Given the description of an element on the screen output the (x, y) to click on. 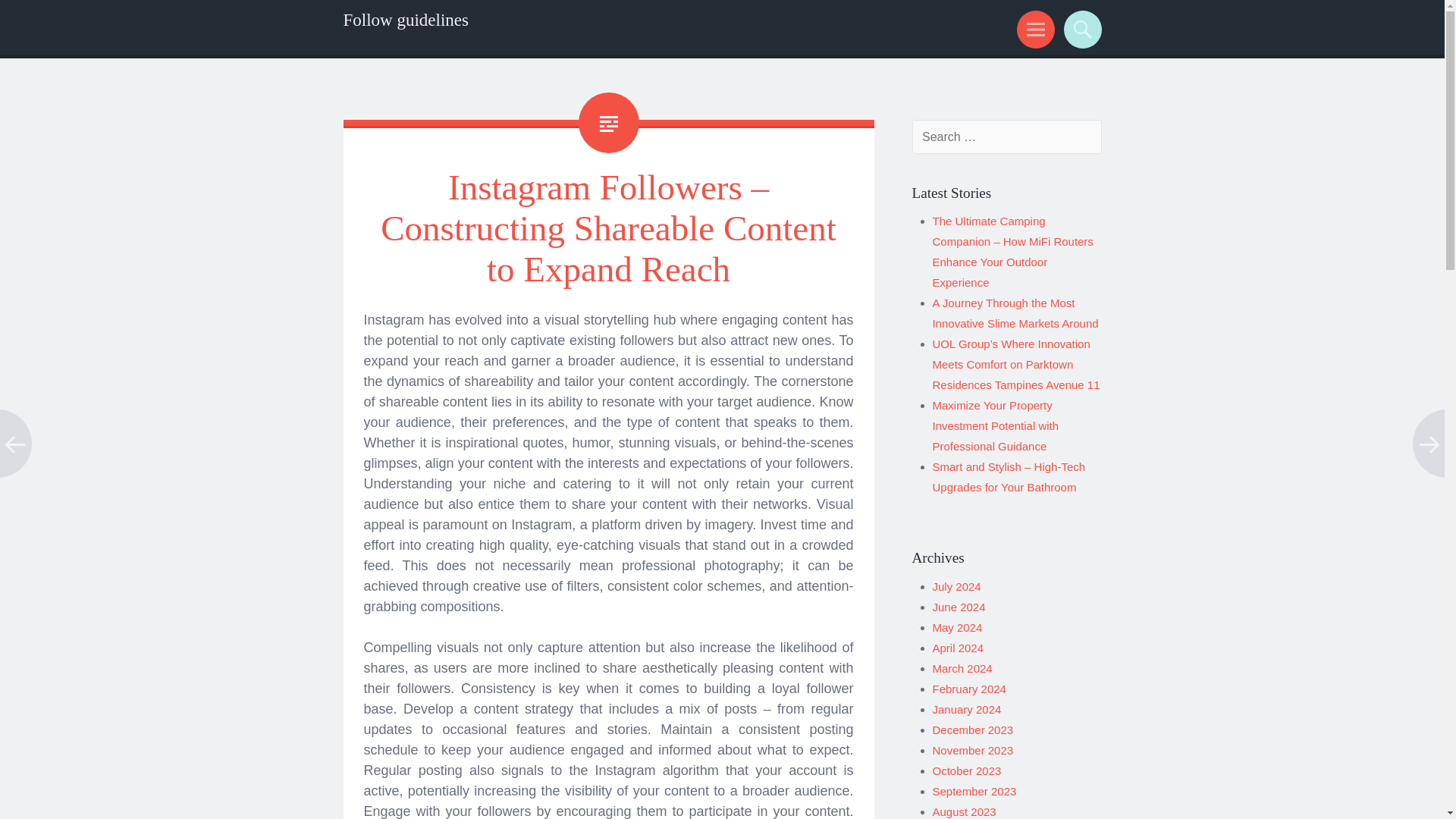
August 2023 (964, 811)
January 2024 (967, 708)
May 2024 (957, 626)
Menu (1032, 29)
Follow guidelines (404, 19)
A Journey Through the Most Innovative Slime Markets Around (1016, 313)
November 2023 (973, 749)
March 2024 (962, 667)
February 2024 (969, 688)
